Given the description of an element on the screen output the (x, y) to click on. 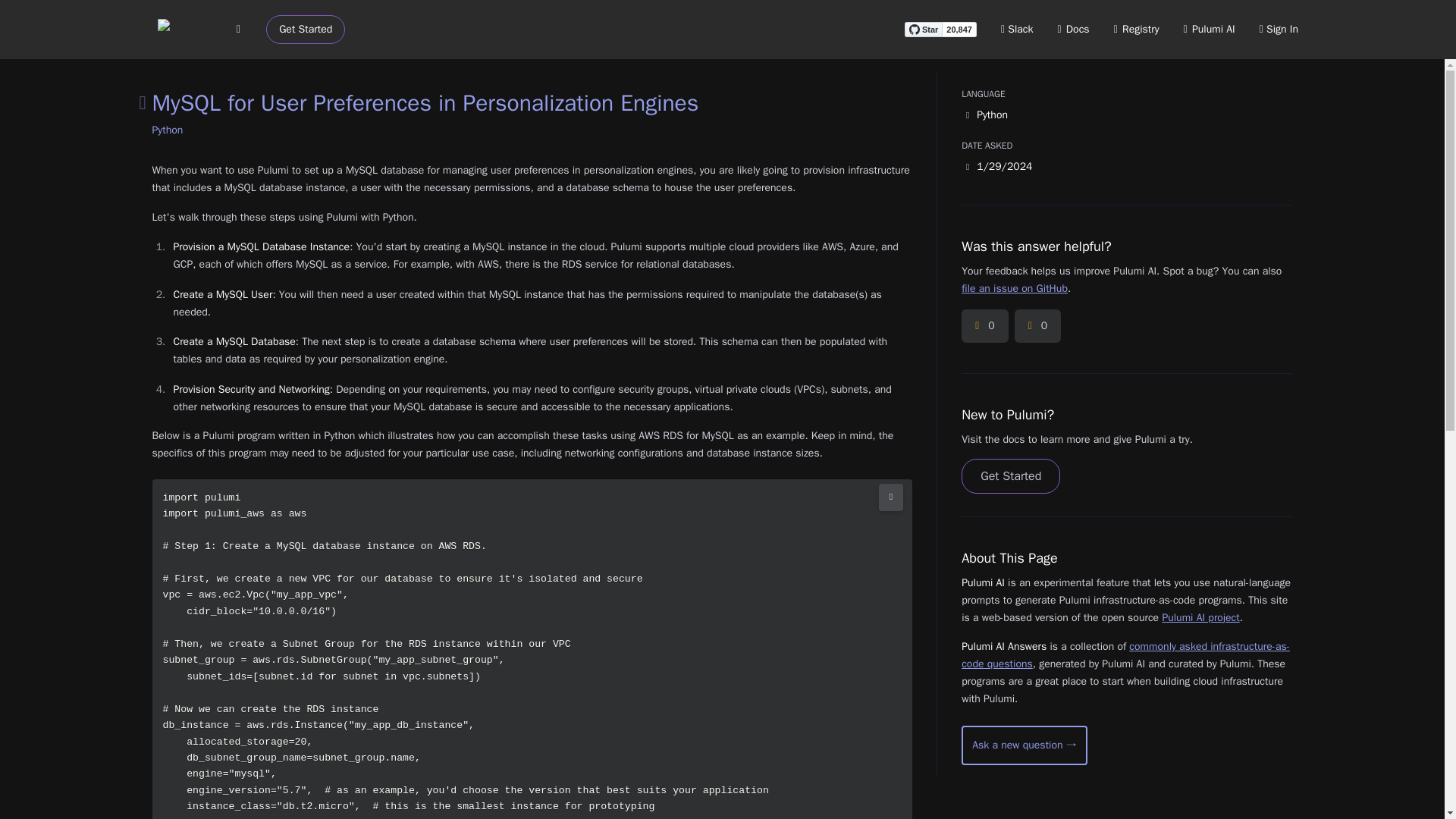
Upvote this answer (984, 326)
Slack (1017, 29)
Sign In (1278, 29)
Downvote this answer (1037, 326)
 Star (923, 29)
0 (1037, 326)
Get Started (305, 29)
Docs (1073, 29)
Get Started (1009, 475)
Pulumi AI (1208, 29)
